Given the description of an element on the screen output the (x, y) to click on. 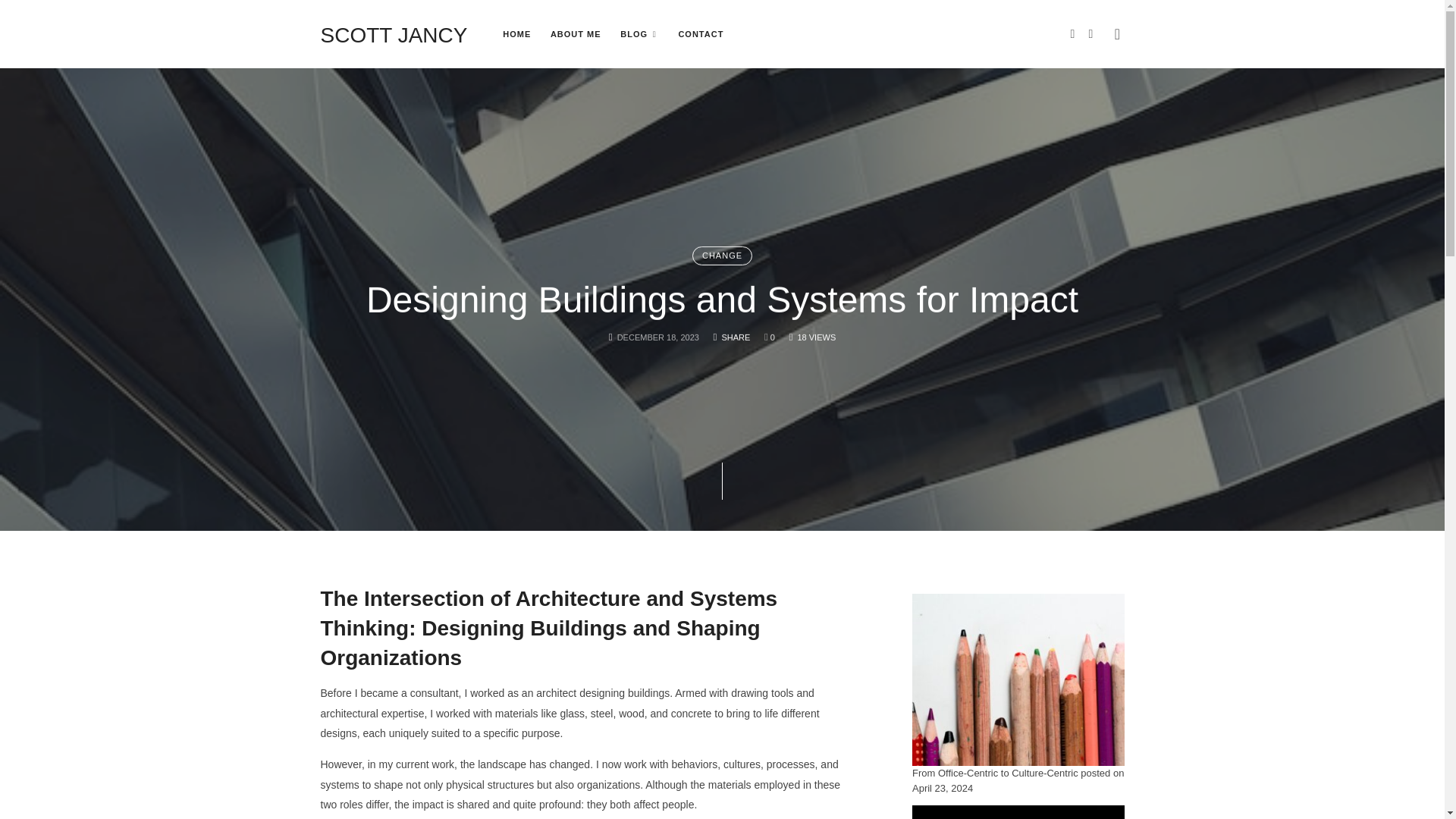
DECEMBER 18, 2023 (657, 337)
ABOUT ME (393, 33)
0 (575, 33)
CHANGE (769, 336)
CONTACT (722, 255)
HOME (700, 33)
BLOG (516, 33)
Recommend this (639, 33)
